Given the description of an element on the screen output the (x, y) to click on. 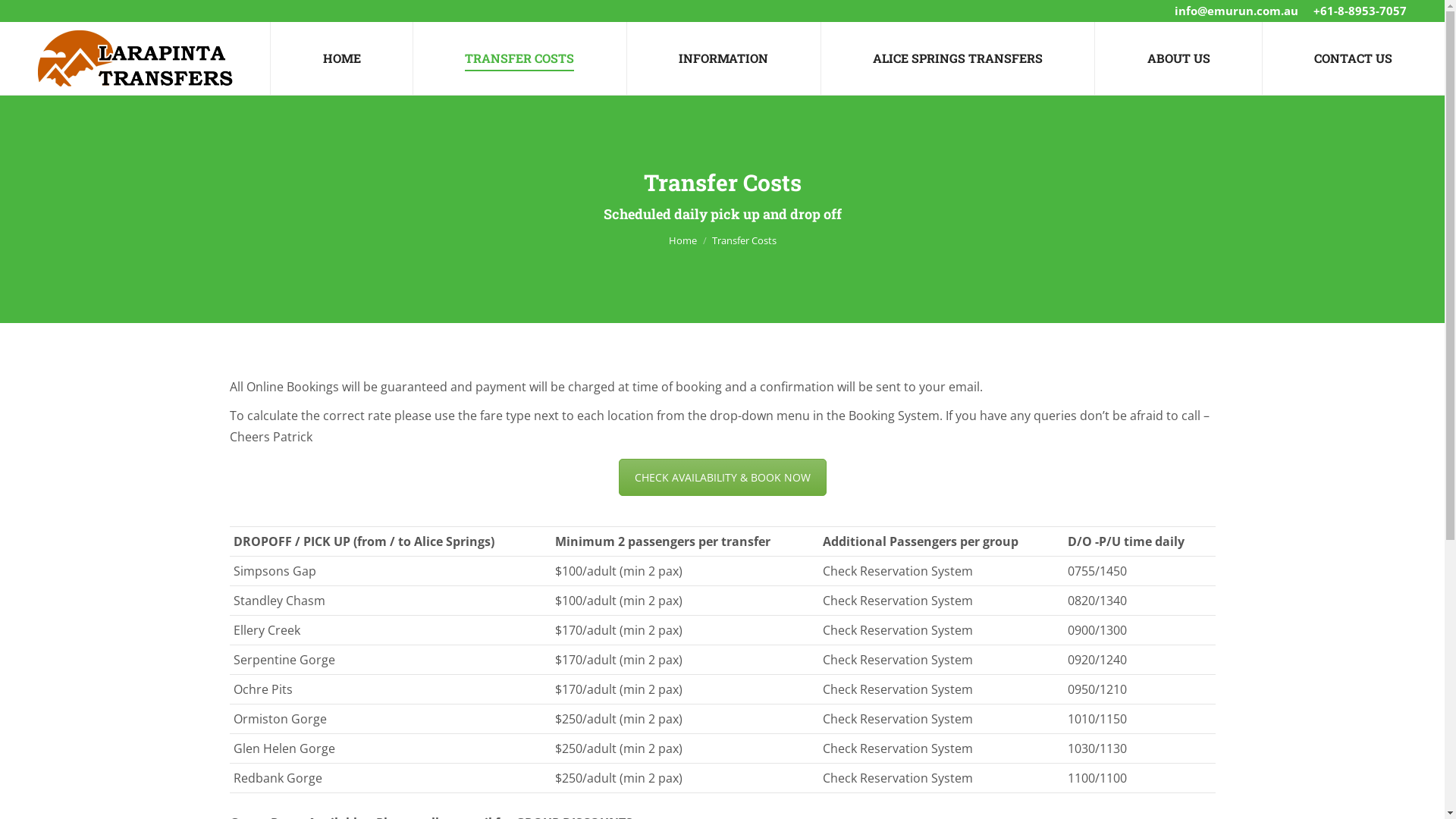
CHECK AVAILABILITY & BOOK NOW Element type: text (722, 476)
HOME Element type: text (341, 57)
info@emurun.com.au Element type: text (1236, 10)
TRANSFER COSTS Element type: text (520, 57)
ALICE SPRINGS TRANSFERS Element type: text (957, 57)
Home Element type: text (682, 240)
+61-8-8953-7057 Element type: text (1359, 10)
CONTACT US Element type: text (1352, 57)
INFORMATION Element type: text (723, 57)
ABOUT US Element type: text (1178, 57)
